Given the description of an element on the screen output the (x, y) to click on. 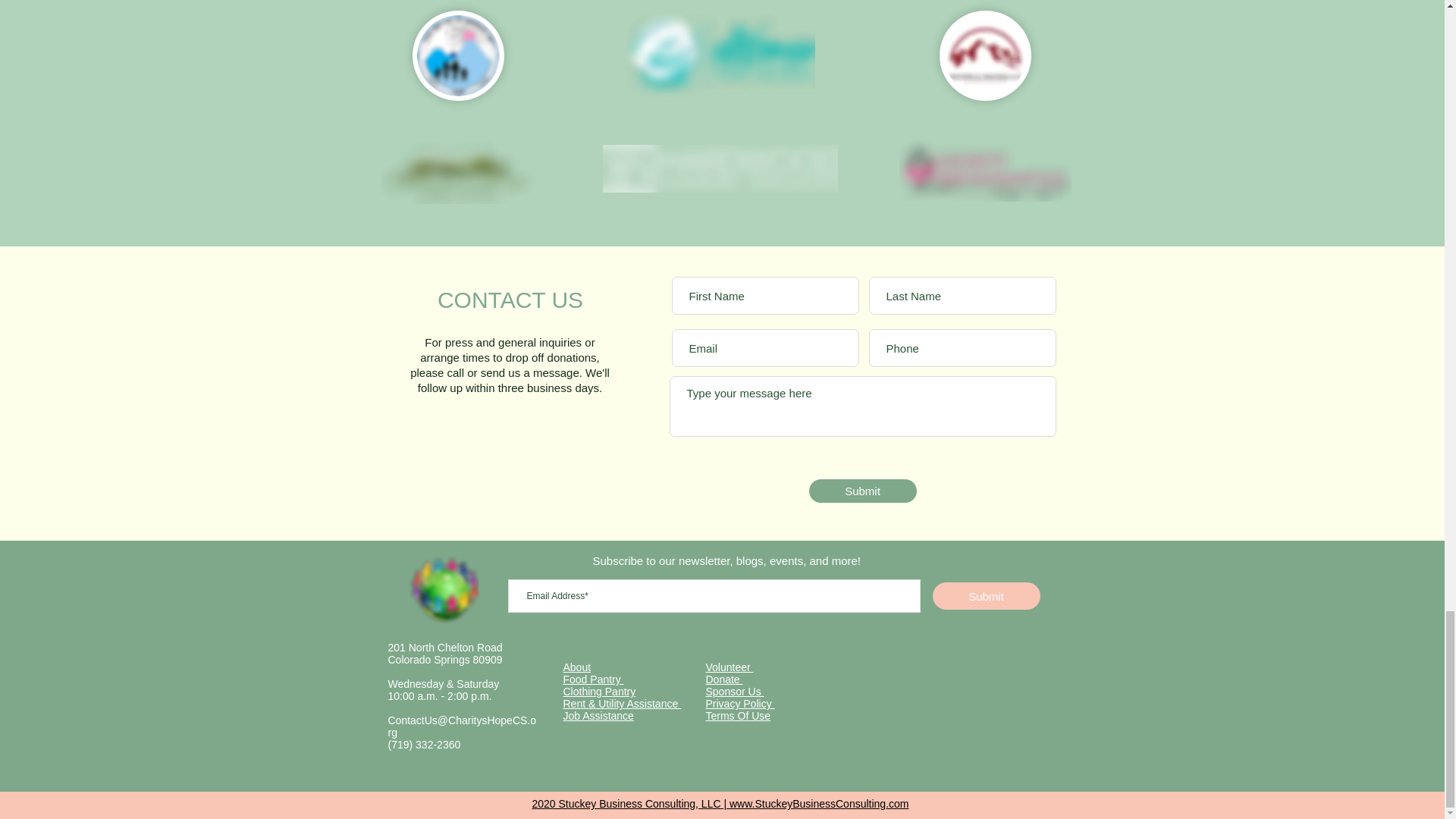
Submit (987, 595)
About (576, 666)
Clothing Pantry (598, 691)
Food Pantry  (592, 679)
Submit (861, 490)
Job Assistance (597, 715)
